Given the description of an element on the screen output the (x, y) to click on. 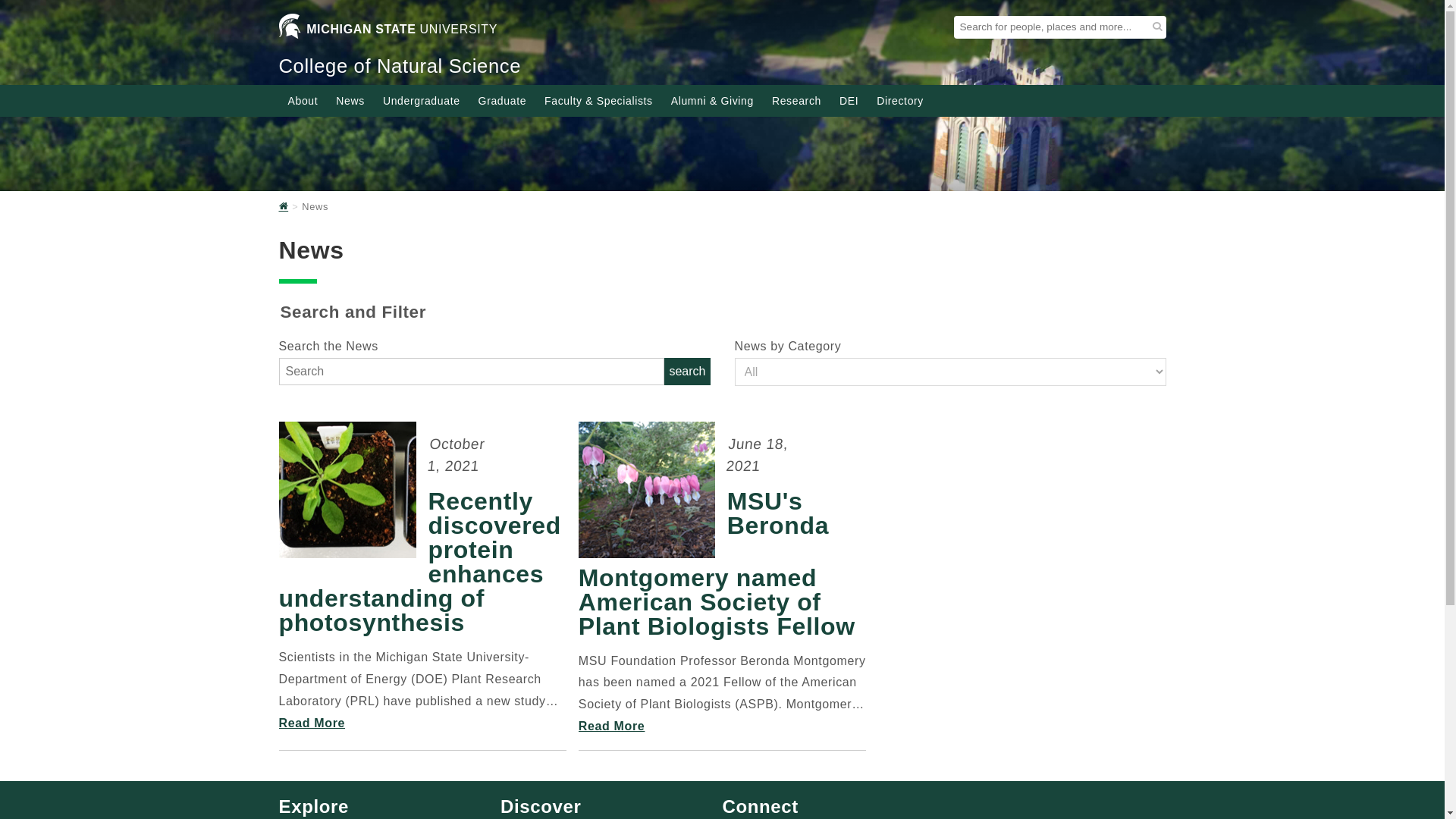
College of Natural Science (400, 65)
News (350, 100)
Graduate (501, 100)
About (303, 100)
MICHIGAN STATE UNIVERSITY (388, 32)
Undergraduate (421, 100)
